Given the description of an element on the screen output the (x, y) to click on. 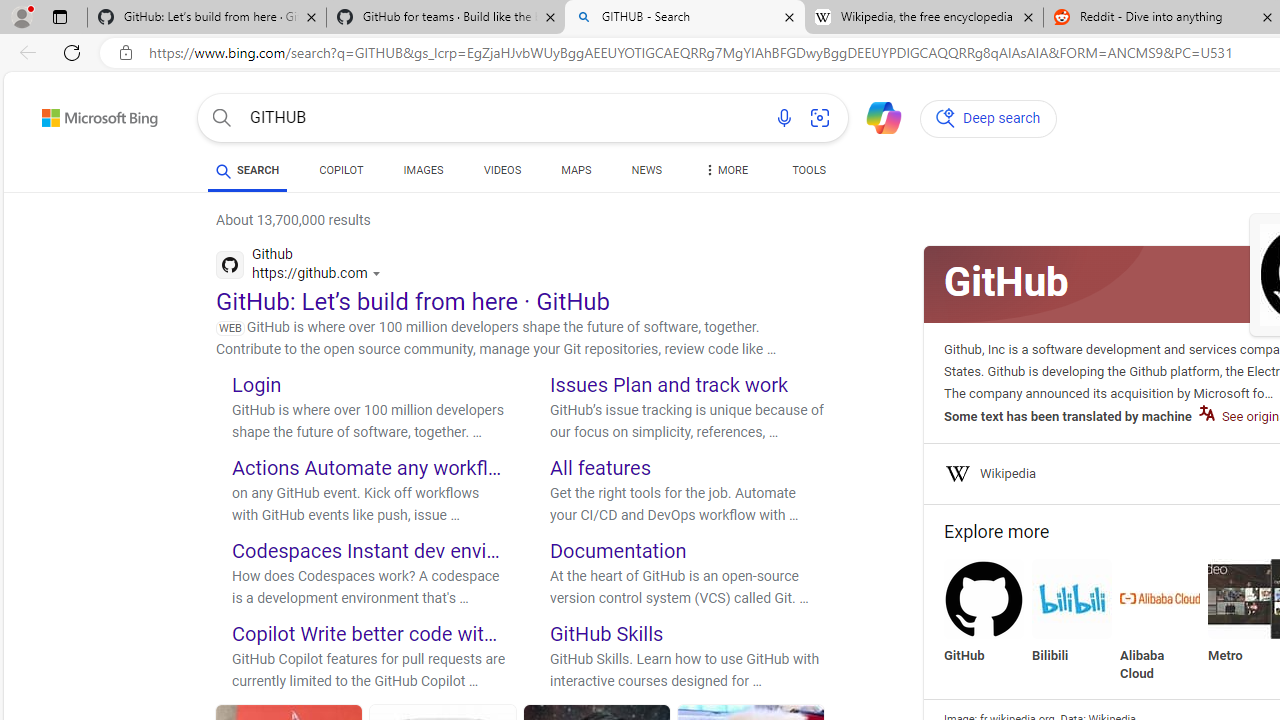
Documentation (618, 550)
GitHub (984, 598)
Issues Plan and track work (669, 384)
